Given the description of an element on the screen output the (x, y) to click on. 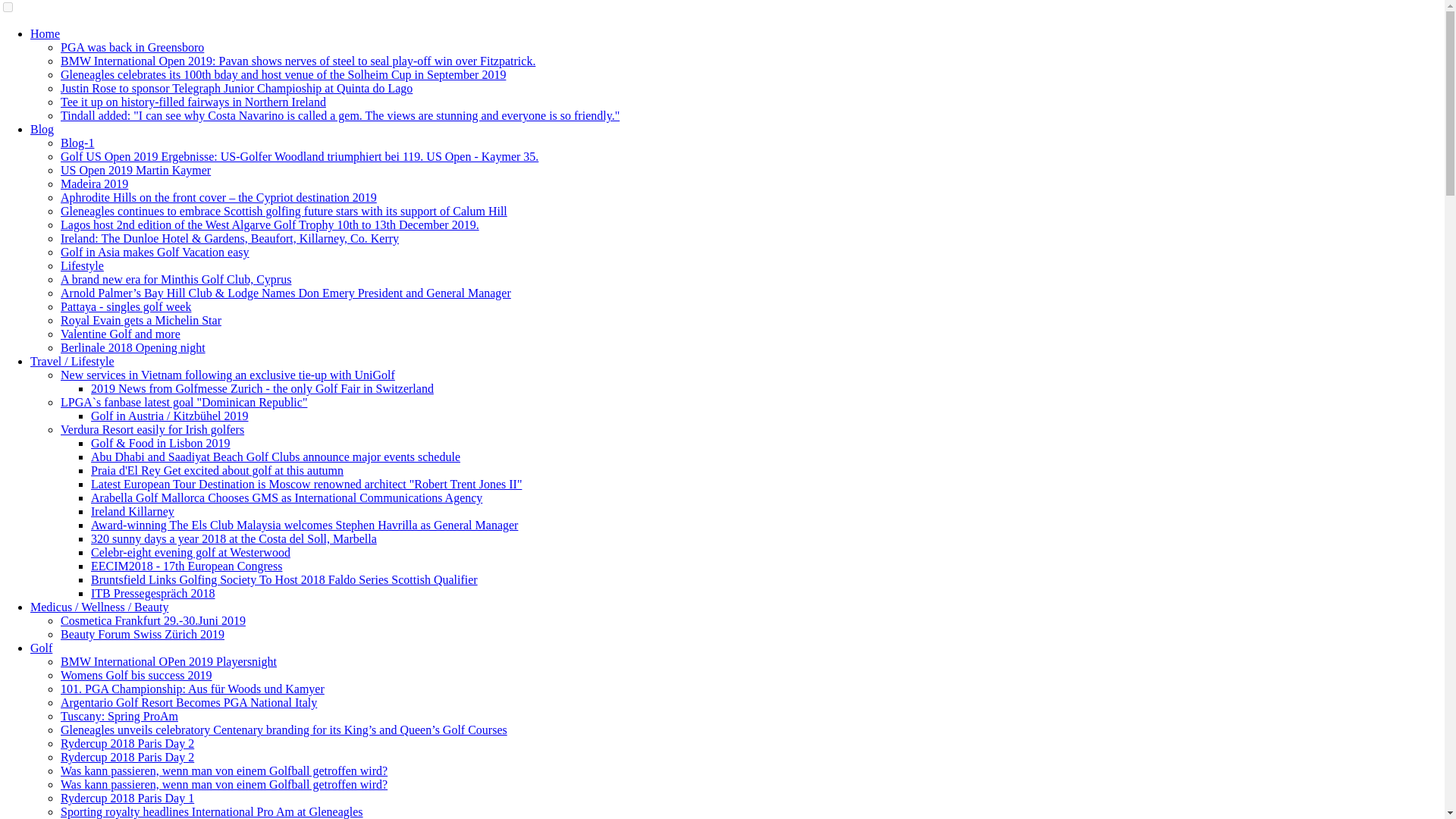
Berlinale 2018 Opening night (133, 347)
Royal Evain gets a Michelin Star (141, 319)
Lifestyle (82, 265)
Praia d'El Rey Get excited about golf at this autumn (216, 470)
Home (44, 33)
320 sunny days a year 2018 at the Costa del Soll, Marbella (233, 538)
Madeira 2019 (94, 183)
A brand new era for Minthis Golf Club, Cyprus (176, 278)
Valentine Golf and more (120, 333)
PGA was back in Greensboro (132, 47)
on (7, 7)
